Given the description of an element on the screen output the (x, y) to click on. 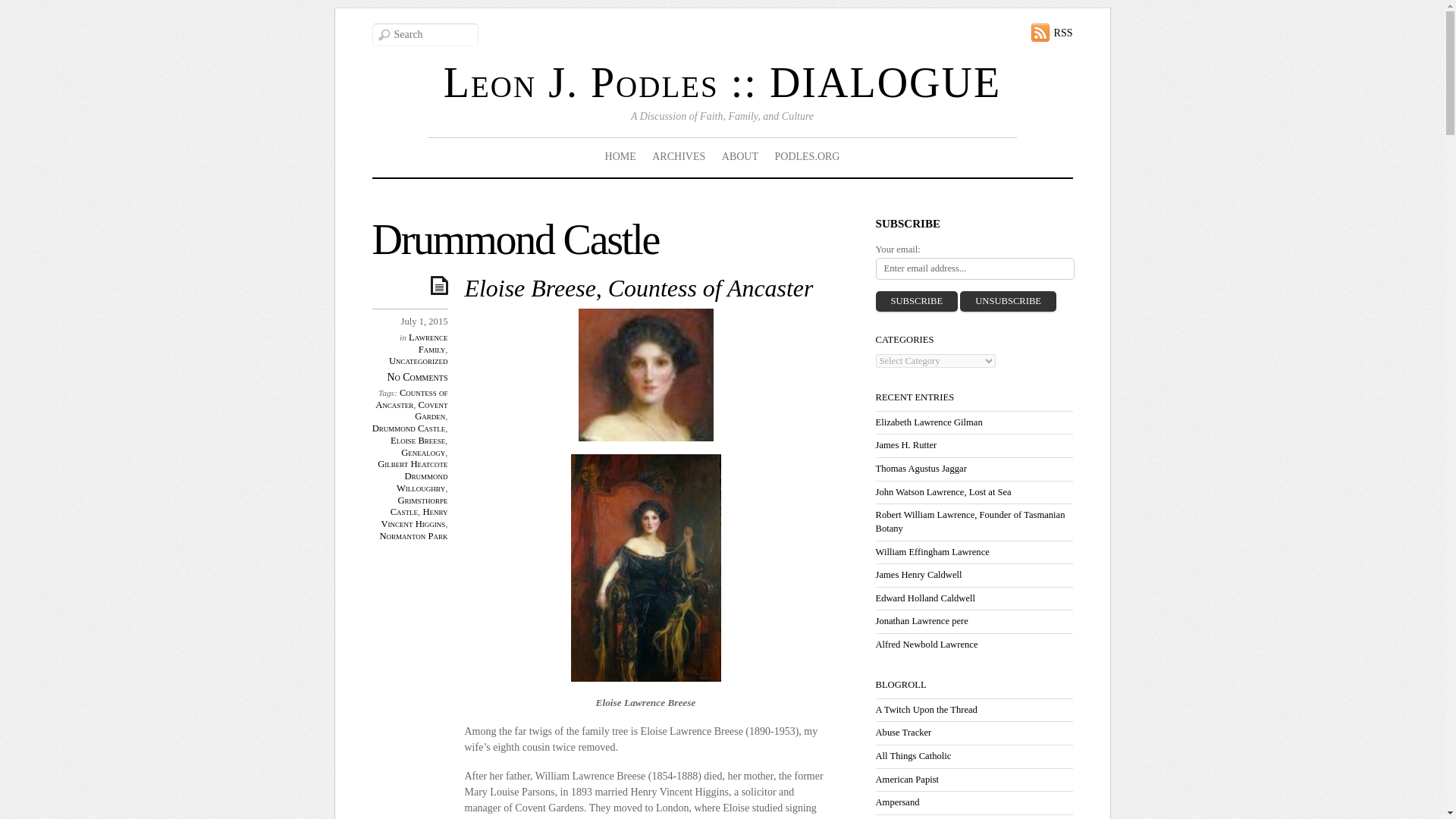
Countess of Ancaster (410, 398)
Unsubscribe (1008, 301)
Thomas Agustus Jaggar (920, 468)
Eloise Breese (417, 439)
Lawrence Family (427, 343)
Leon J. Podles :: DIALOGUE (722, 82)
Unsubscribe (1008, 301)
Grimsthorpe Castle (419, 506)
Eloise Breese, Countess of Ancaster (638, 288)
Enter email address... (974, 268)
ABOUT (739, 156)
Eloise Breese, Countess of Ancaster (638, 288)
Leon J. Podles  :: DIALOGUE (722, 82)
Blog of Bill Cork, associate pastor in Houston, Texas. (925, 709)
A digest of links to media coverage of clergy abuse. (903, 732)
